Given the description of an element on the screen output the (x, y) to click on. 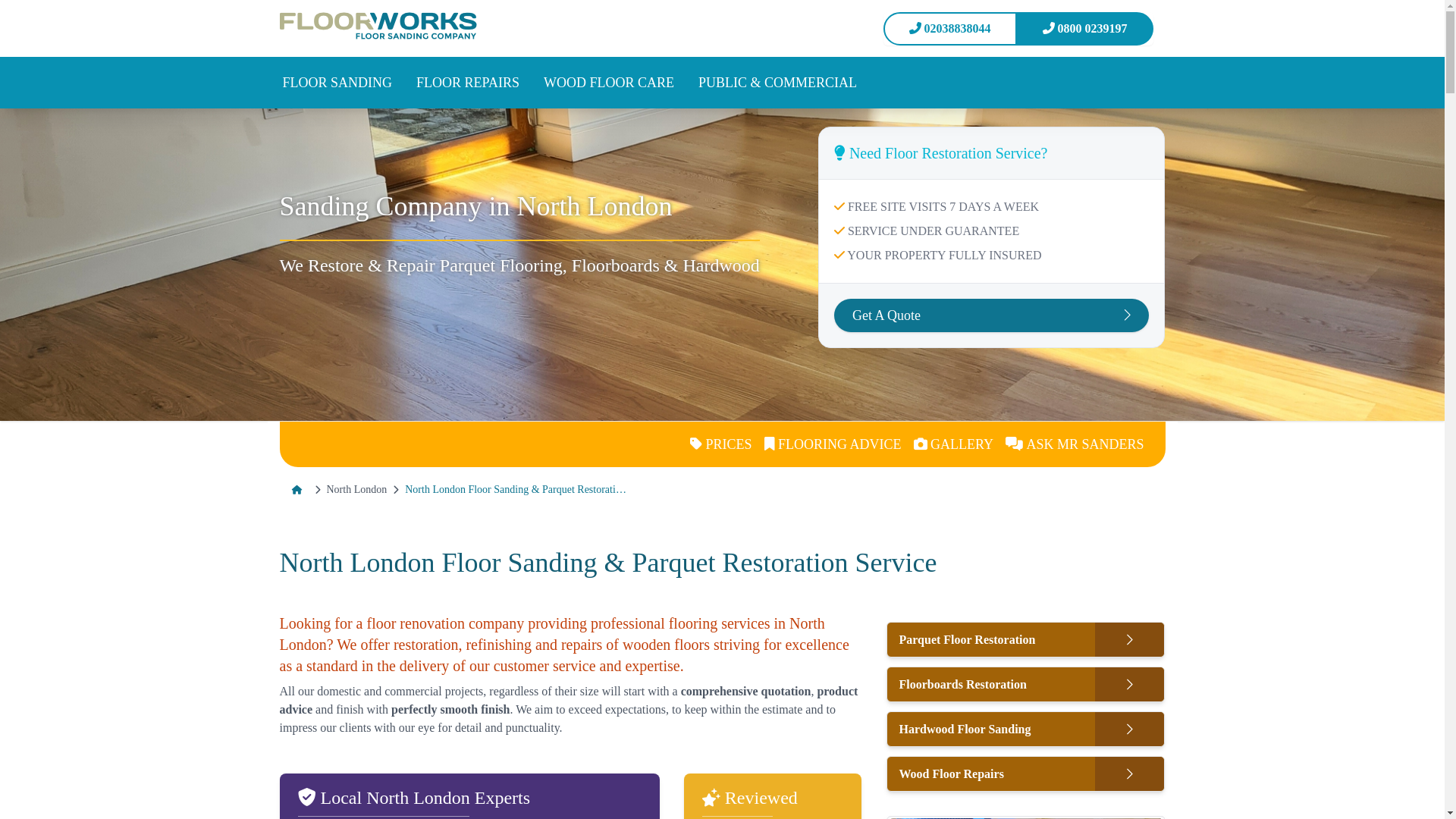
FLOOR SANDING (336, 82)
02038838044 (949, 28)
0800 0239197 (1084, 28)
Wood Floor Repairs (467, 82)
FLOORING ADVICE (832, 444)
PRICES (720, 444)
Floor Sanding Services (336, 82)
ASK MR SANDERS (1074, 444)
FLOOR REPAIRS (467, 82)
GALLERY (953, 444)
